Given the description of an element on the screen output the (x, y) to click on. 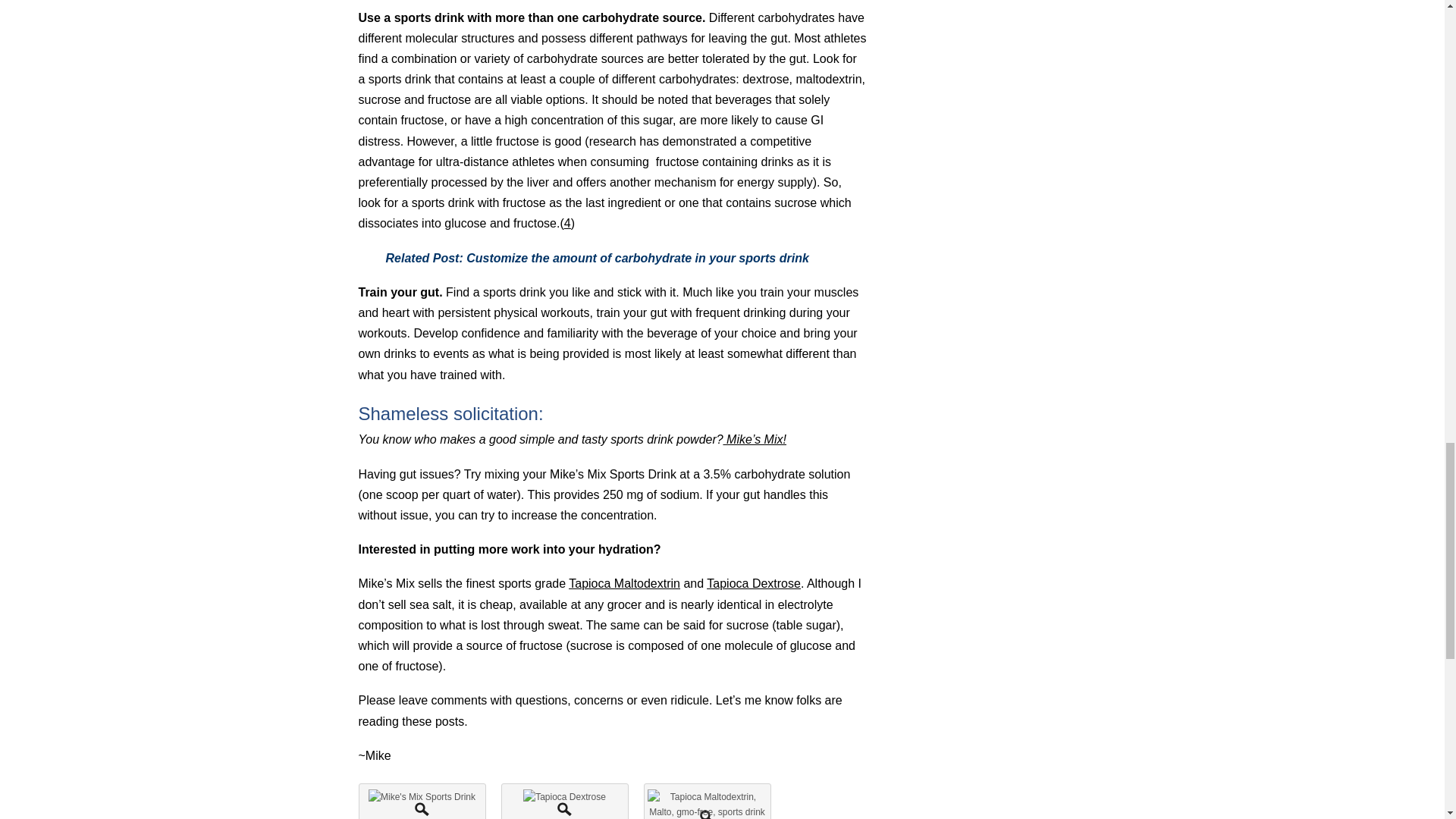
Tapioca Maltodextrin (624, 583)
Tapioca Dextrose (753, 583)
